Given the description of an element on the screen output the (x, y) to click on. 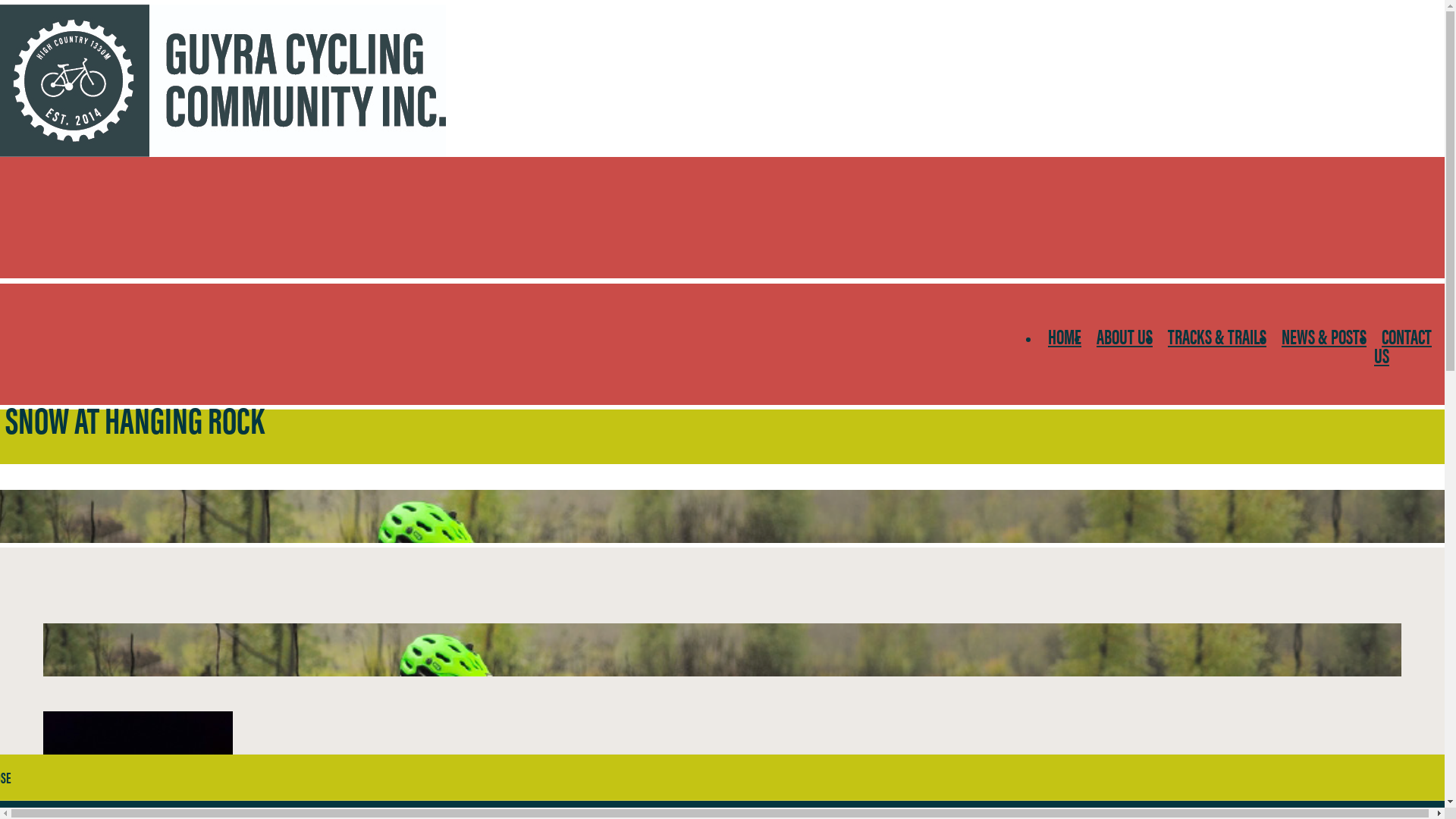
TRACKS & TRAILS Element type: text (1217, 335)
NEWS & POSTS Element type: text (1324, 335)
HOME Element type: text (1064, 335)
CONTACT US Element type: text (1402, 345)
ABOUT US Element type: text (1124, 335)
